Given the description of an element on the screen output the (x, y) to click on. 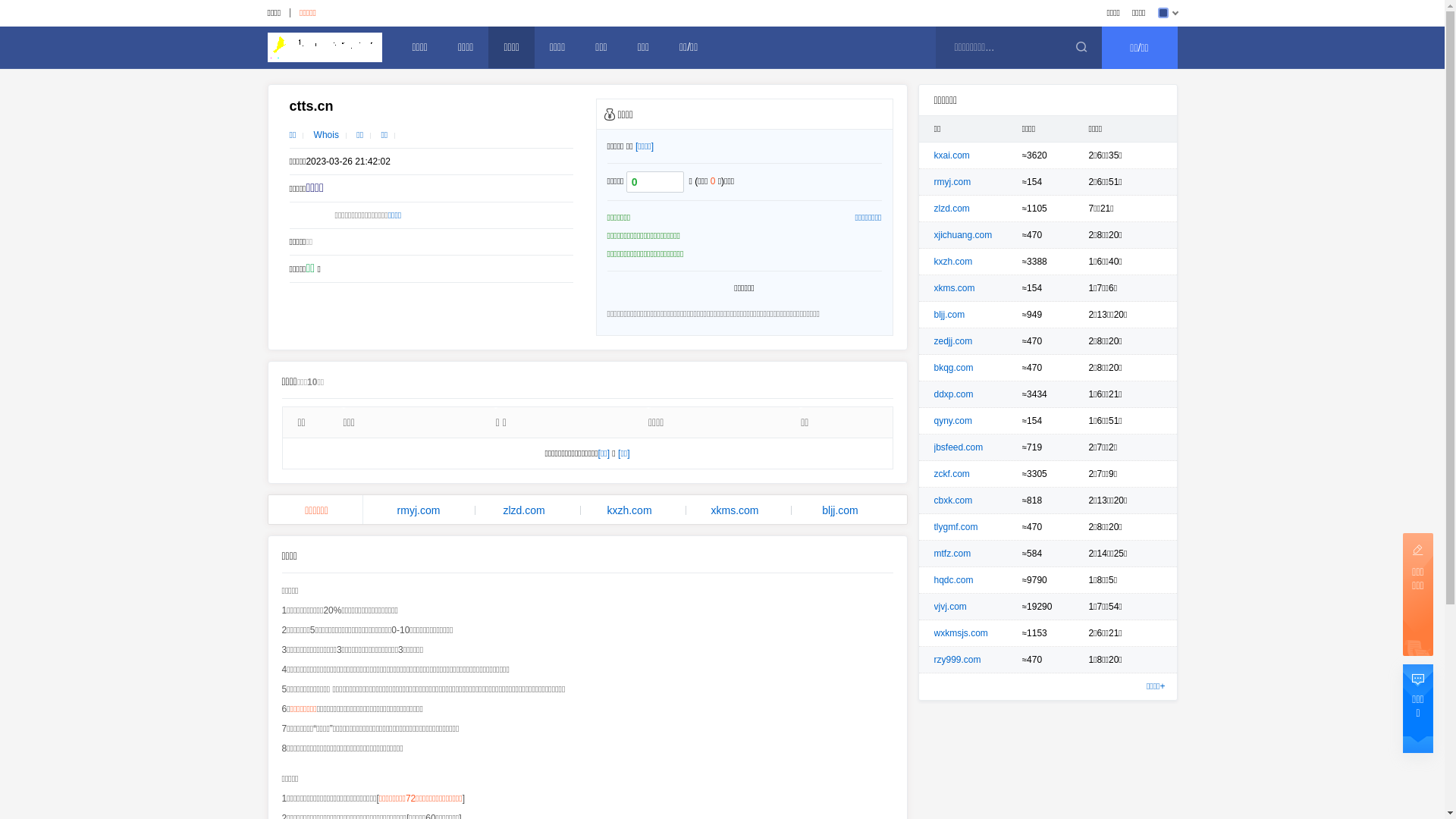
cbxk.com Element type: text (953, 500)
rmyj.com Element type: text (952, 181)
xjichuang.com Element type: text (963, 234)
zckf.com Element type: text (951, 473)
bkqg.com Element type: text (953, 367)
xkms.com Element type: text (954, 287)
kxzh.com Element type: text (628, 510)
kxzh.com Element type: text (953, 261)
bljj.com Element type: text (839, 510)
wxkmsjs.com Element type: text (961, 632)
rmyj.com Element type: text (417, 510)
mtfz.com Element type: text (952, 553)
ddxp.com Element type: text (953, 394)
rzy999.com Element type: text (957, 659)
bljj.com Element type: text (949, 314)
xkms.com Element type: text (734, 510)
qyny.com Element type: text (953, 420)
jbsfeed.com Element type: text (958, 447)
vjvj.com Element type: text (950, 606)
tlygmf.com Element type: text (956, 526)
Whois Element type: text (326, 134)
kxai.com Element type: text (951, 155)
zlzd.com Element type: text (951, 208)
hqdc.com Element type: text (953, 579)
zlzd.com Element type: text (524, 510)
zedjj.com Element type: text (953, 340)
